Given the description of an element on the screen output the (x, y) to click on. 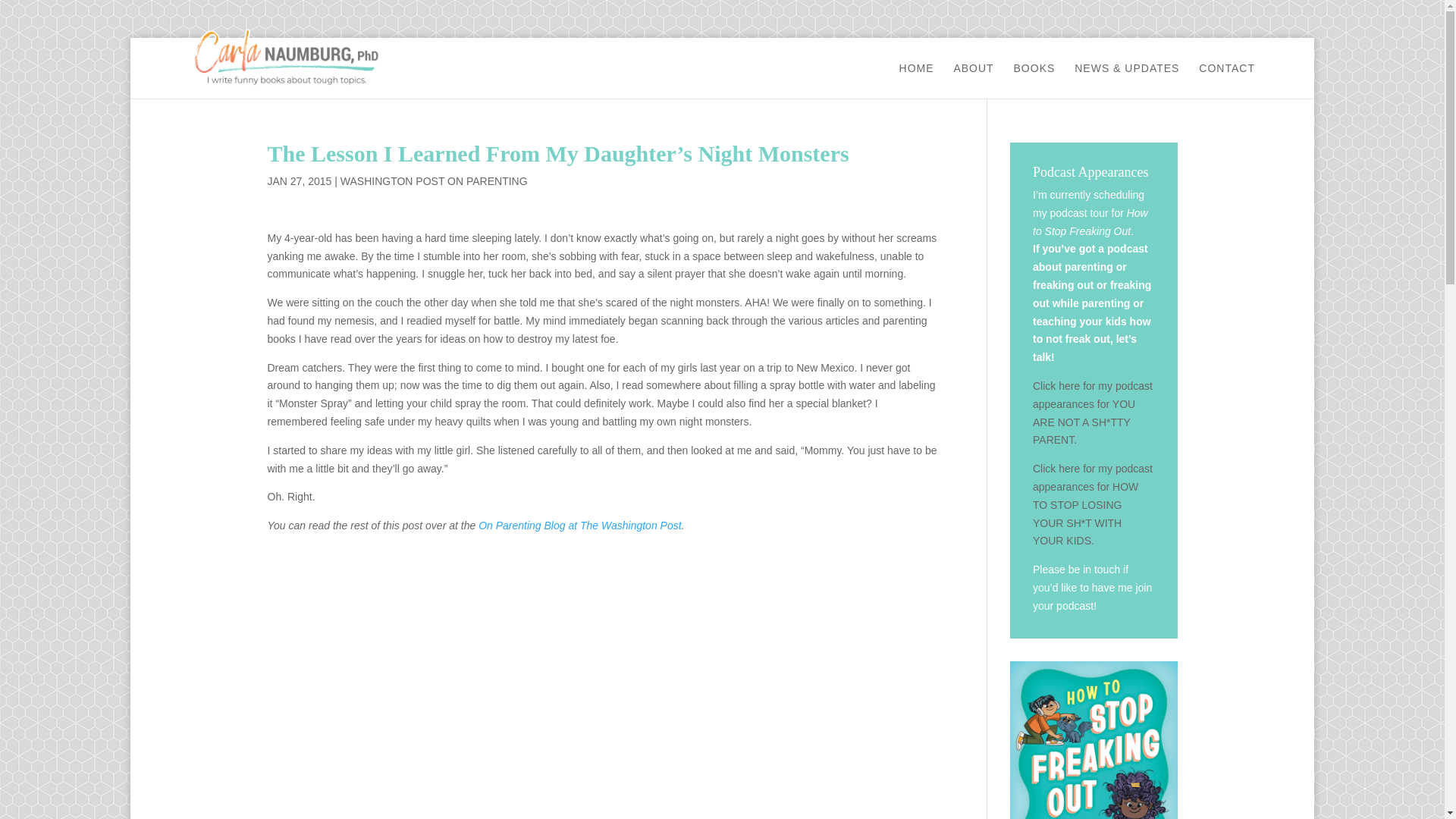
CONTACT (1226, 80)
WASHINGTON POST ON PARENTING (433, 181)
BOOKS (1034, 80)
On Parenting Blog at The Washington Post (580, 525)
ABOUT (972, 80)
HOME (916, 80)
